Given the description of an element on the screen output the (x, y) to click on. 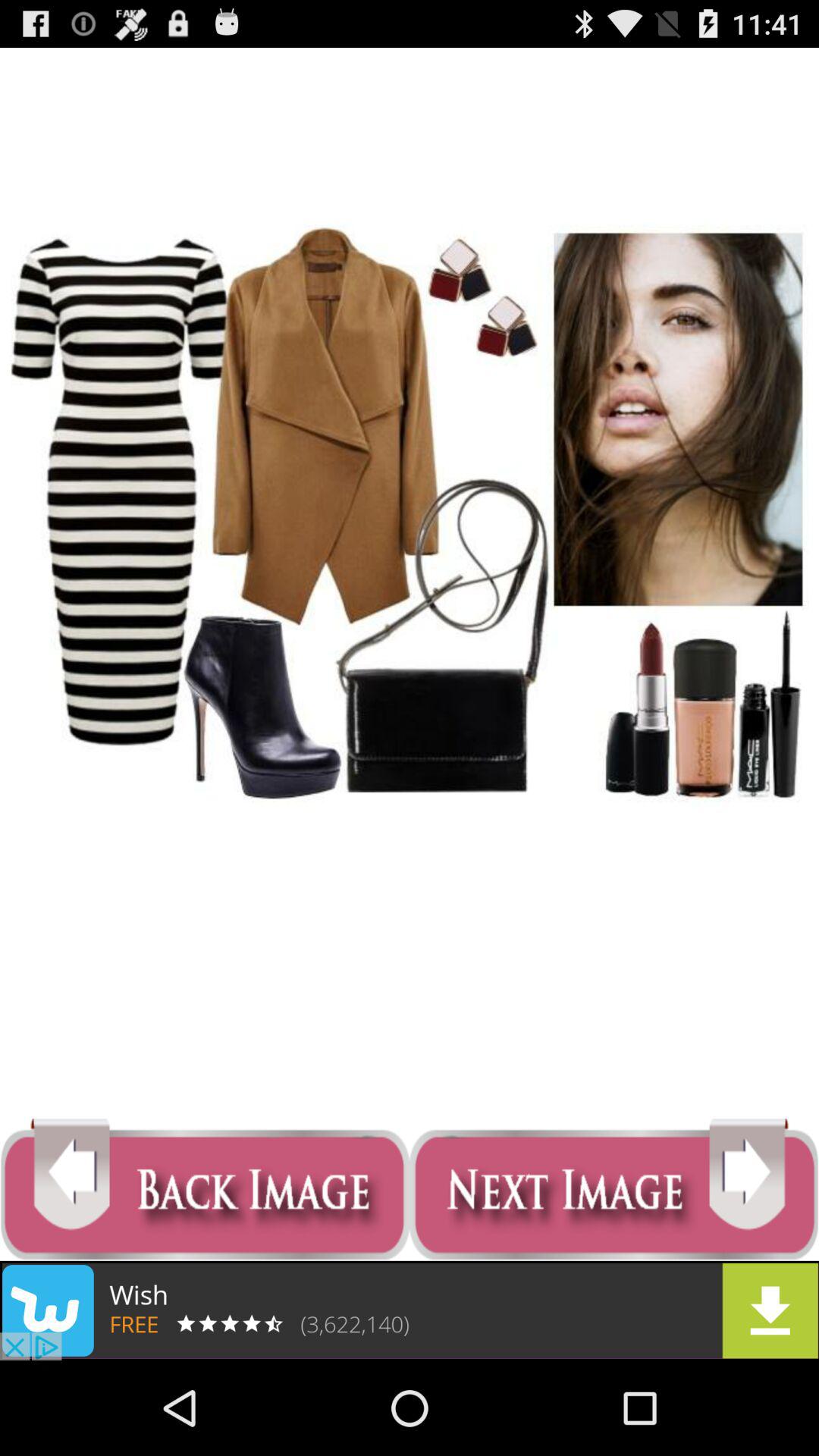
go to advertisement (409, 1310)
